Given the description of an element on the screen output the (x, y) to click on. 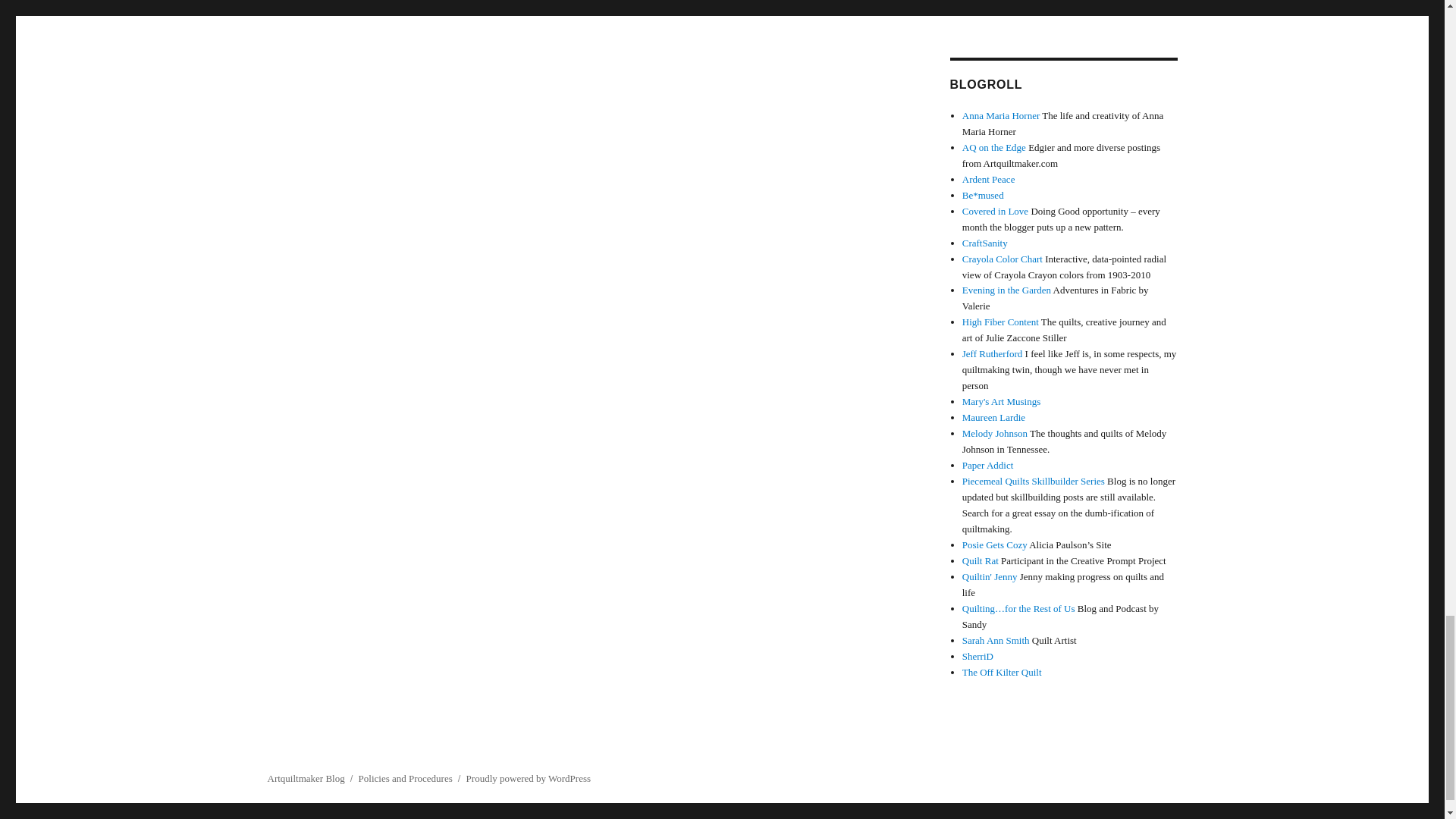
Edgier and more diverse postings from Artquiltmaker.com (994, 147)
The life and creativity of Anna Maria Horner (1001, 115)
Adventures in Fabric by Valerie (1006, 289)
The thoughts and quilts of Melody Johnson in Tennessee. (994, 432)
